Given the description of an element on the screen output the (x, y) to click on. 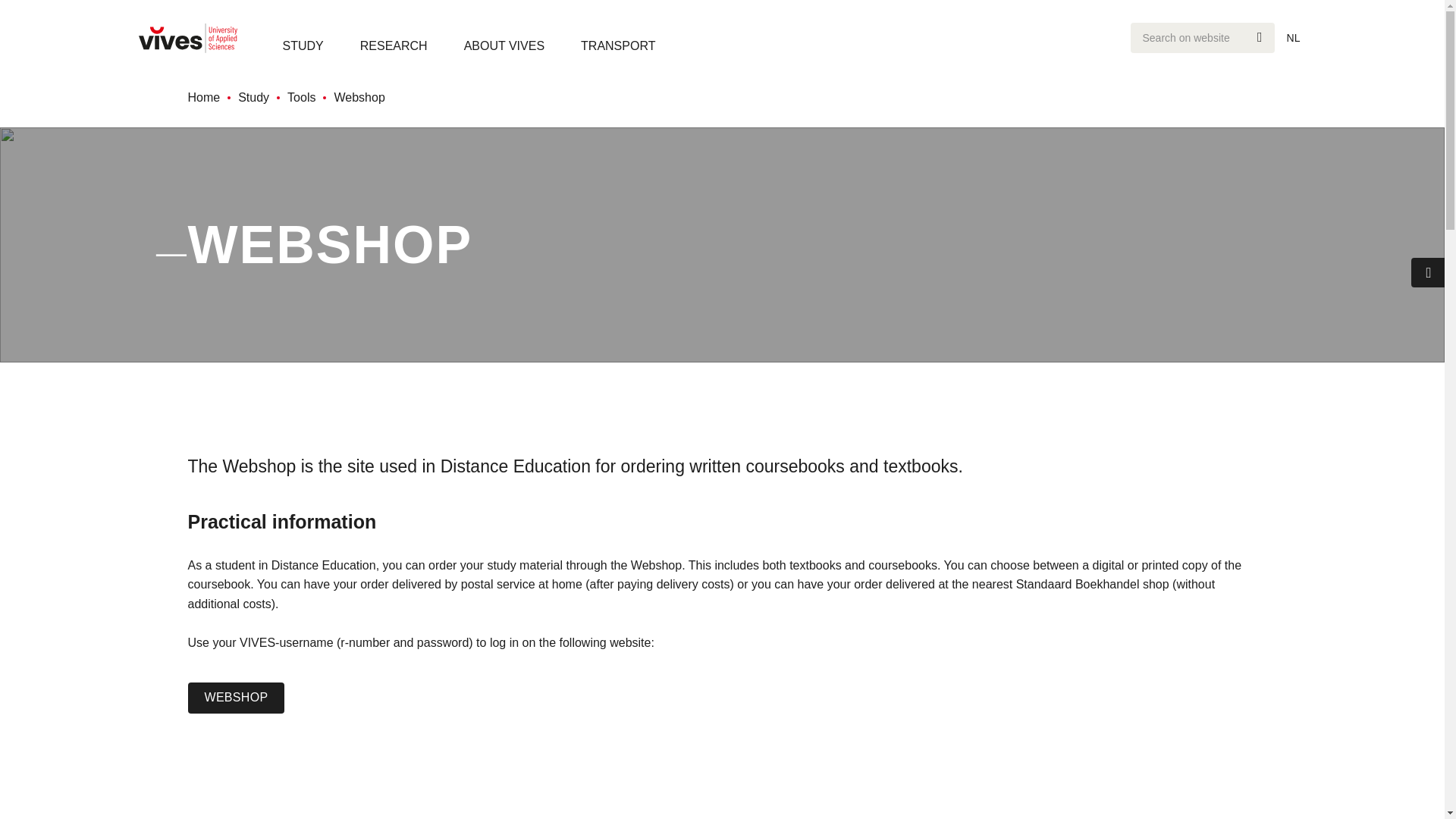
STUDY (302, 45)
Study at VIVES (302, 45)
RESEARCH (393, 45)
